Given the description of an element on the screen output the (x, y) to click on. 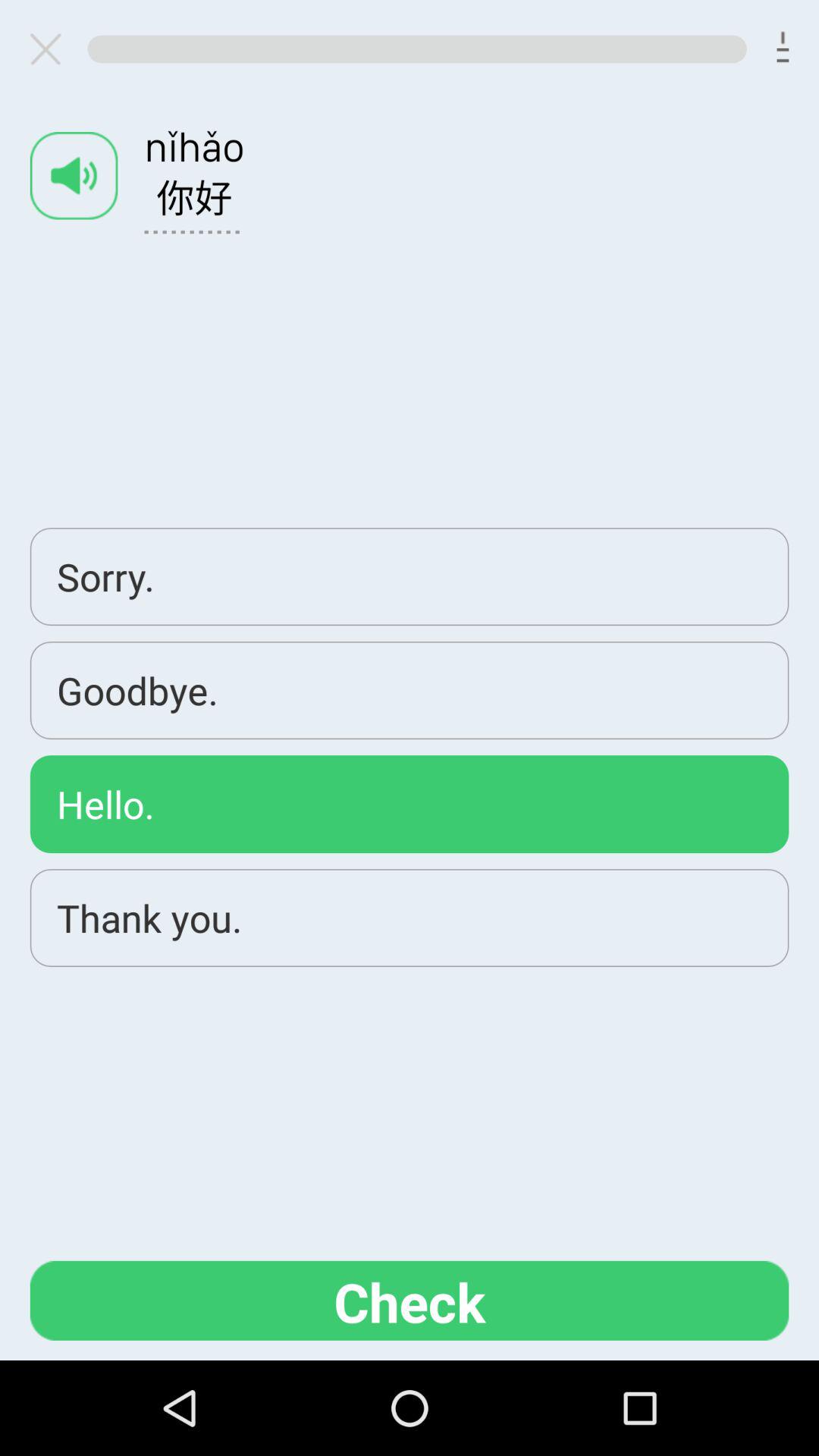
play the pronunciation (73, 175)
